Given the description of an element on the screen output the (x, y) to click on. 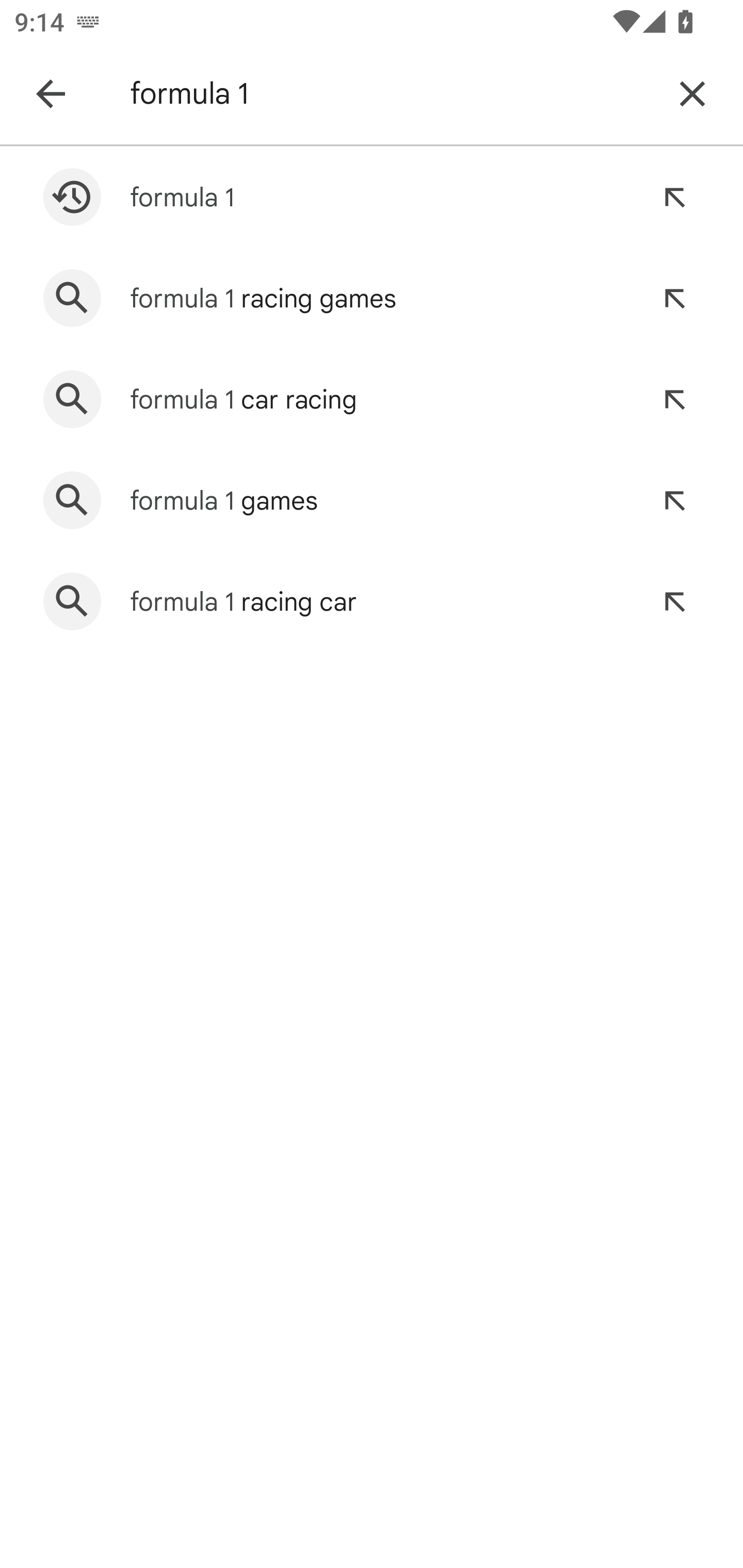
Navigate up (50, 93)
formula 1 (389, 93)
Clear (692, 93)
Refine search to "formula 1" (673, 196)
Refine search to "formula 1 racing games" (673, 297)
Refine search to "formula 1 car racing" (673, 399)
Refine search to "formula 1 games" (673, 500)
Refine search to "formula 1 racing car" (673, 601)
